Given the description of an element on the screen output the (x, y) to click on. 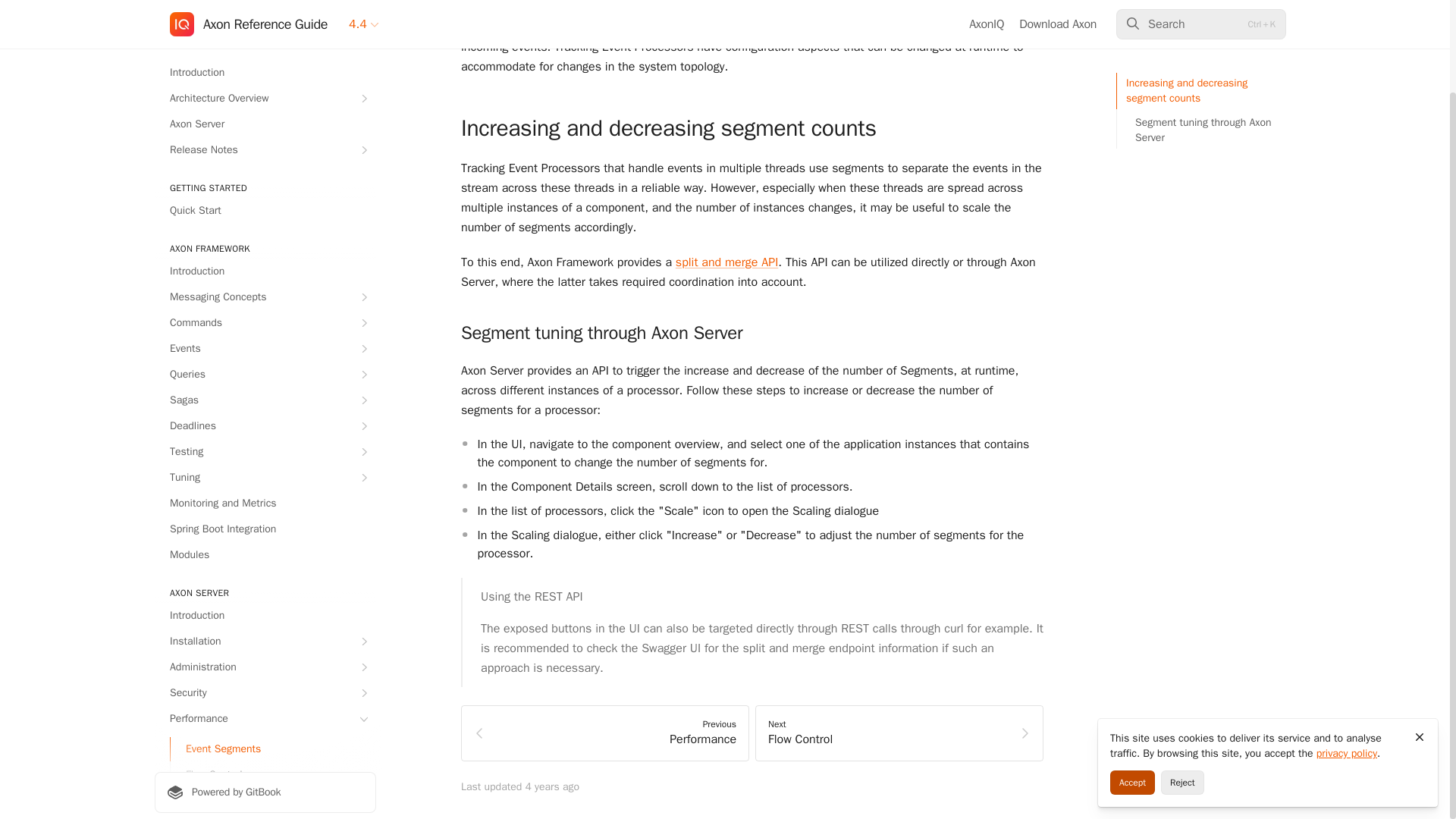
Axon Server (264, 20)
Close (1419, 633)
Architecture Overview (264, 3)
Release Notes (264, 46)
